Given the description of an element on the screen output the (x, y) to click on. 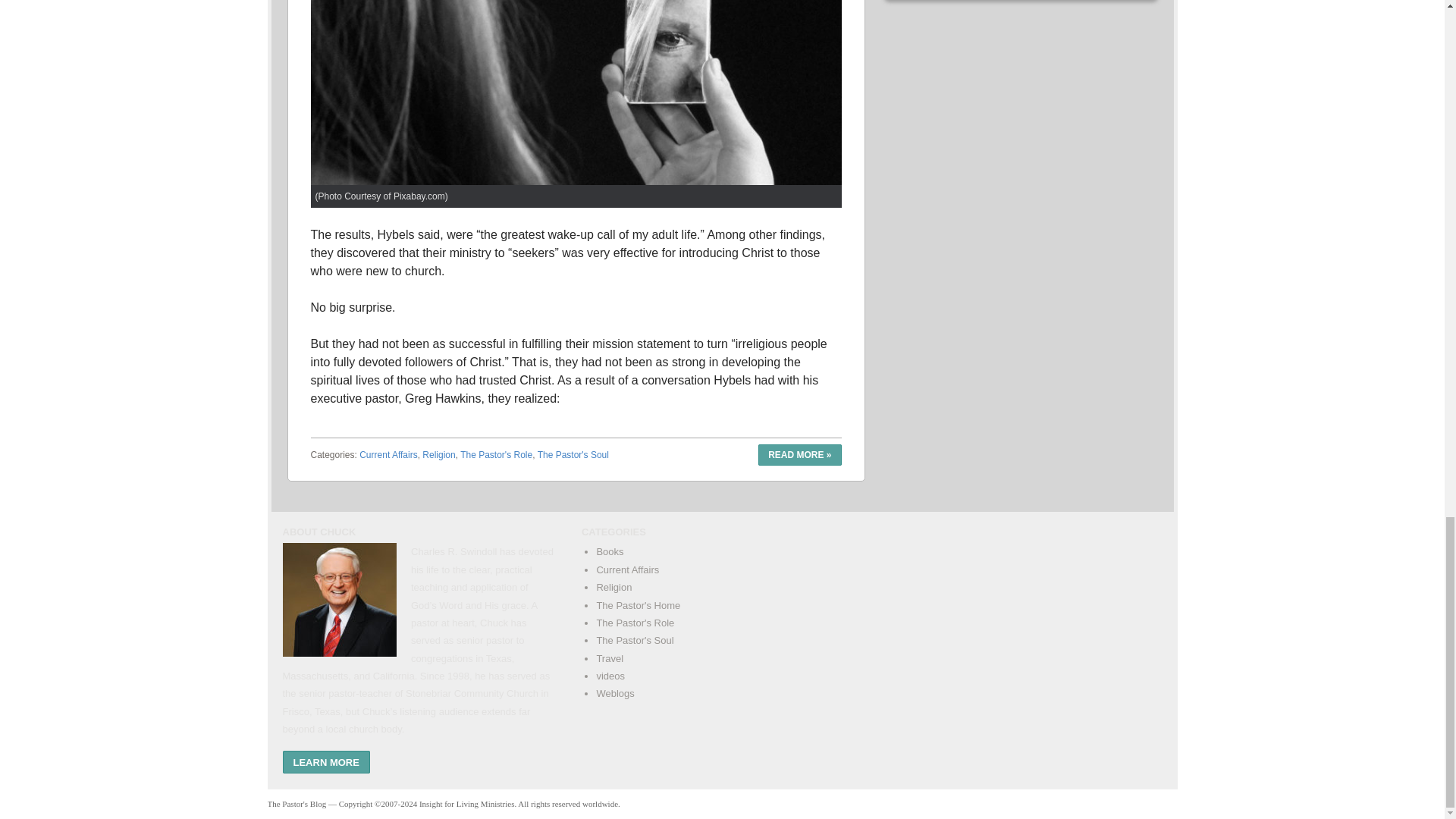
Current Affairs (387, 454)
Religion (438, 454)
